Given the description of an element on the screen output the (x, y) to click on. 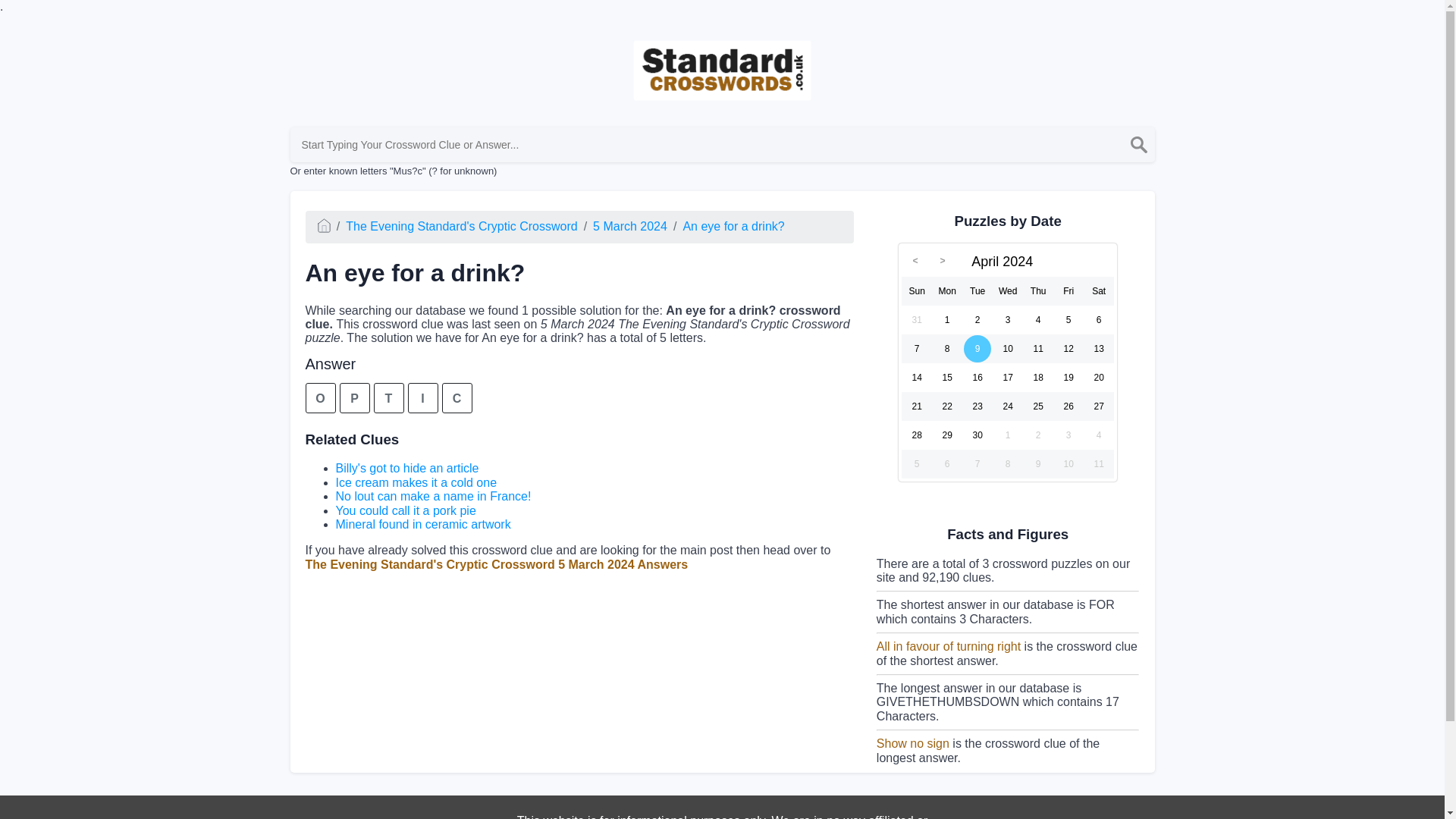
Ice cream makes it a cold one (415, 481)
You could call it a pork pie (405, 510)
Mineral found in ceramic artwork (422, 523)
An eye for a drink? (733, 226)
No lout can make a name in France! (432, 495)
Billy's got to hide an article (406, 468)
5 March 2024 (629, 226)
The Evening Standard's Cryptic Crossword (461, 226)
All in favour of turning right (948, 645)
